Given the description of an element on the screen output the (x, y) to click on. 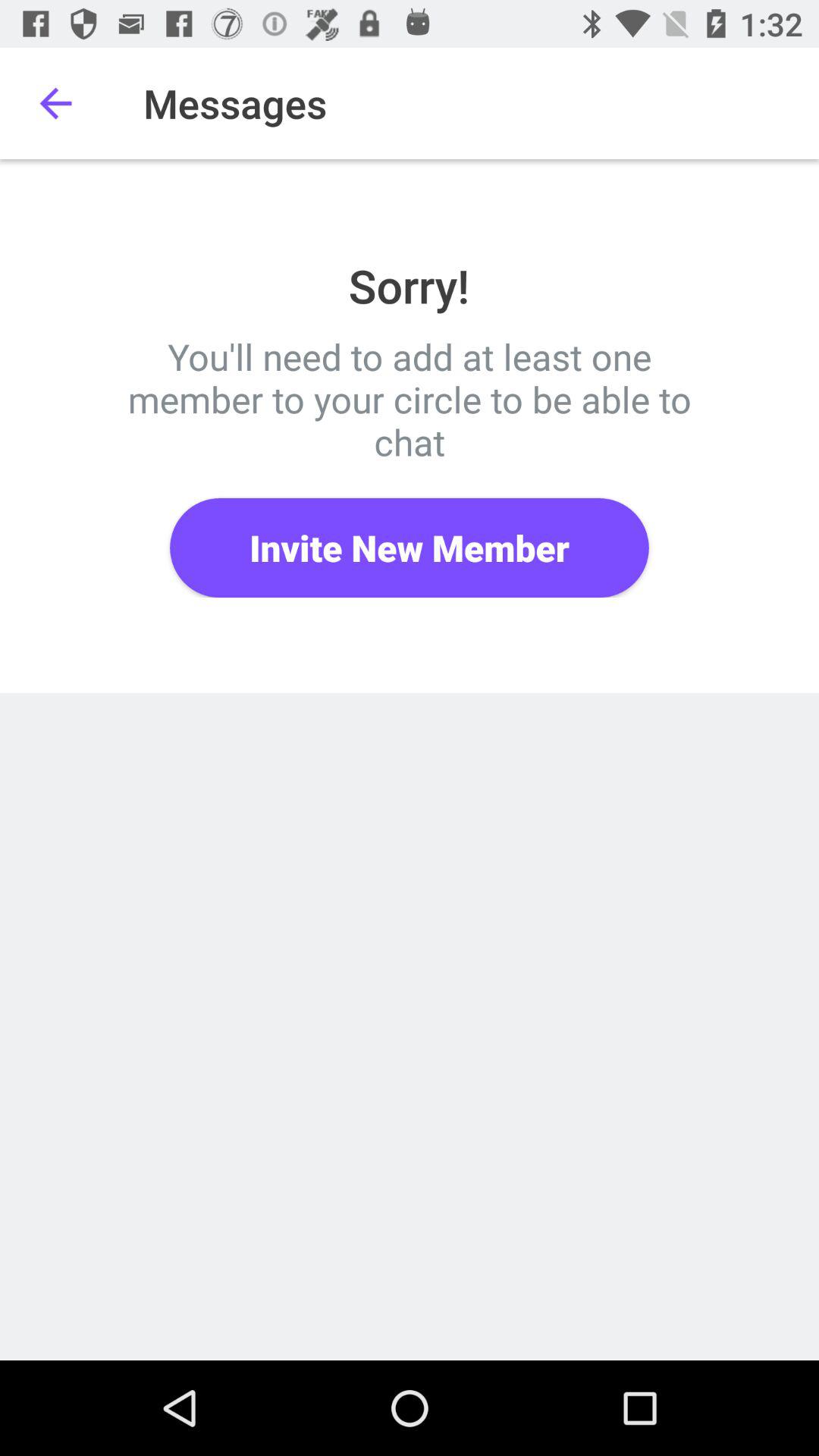
click item above you ll need icon (55, 103)
